Given the description of an element on the screen output the (x, y) to click on. 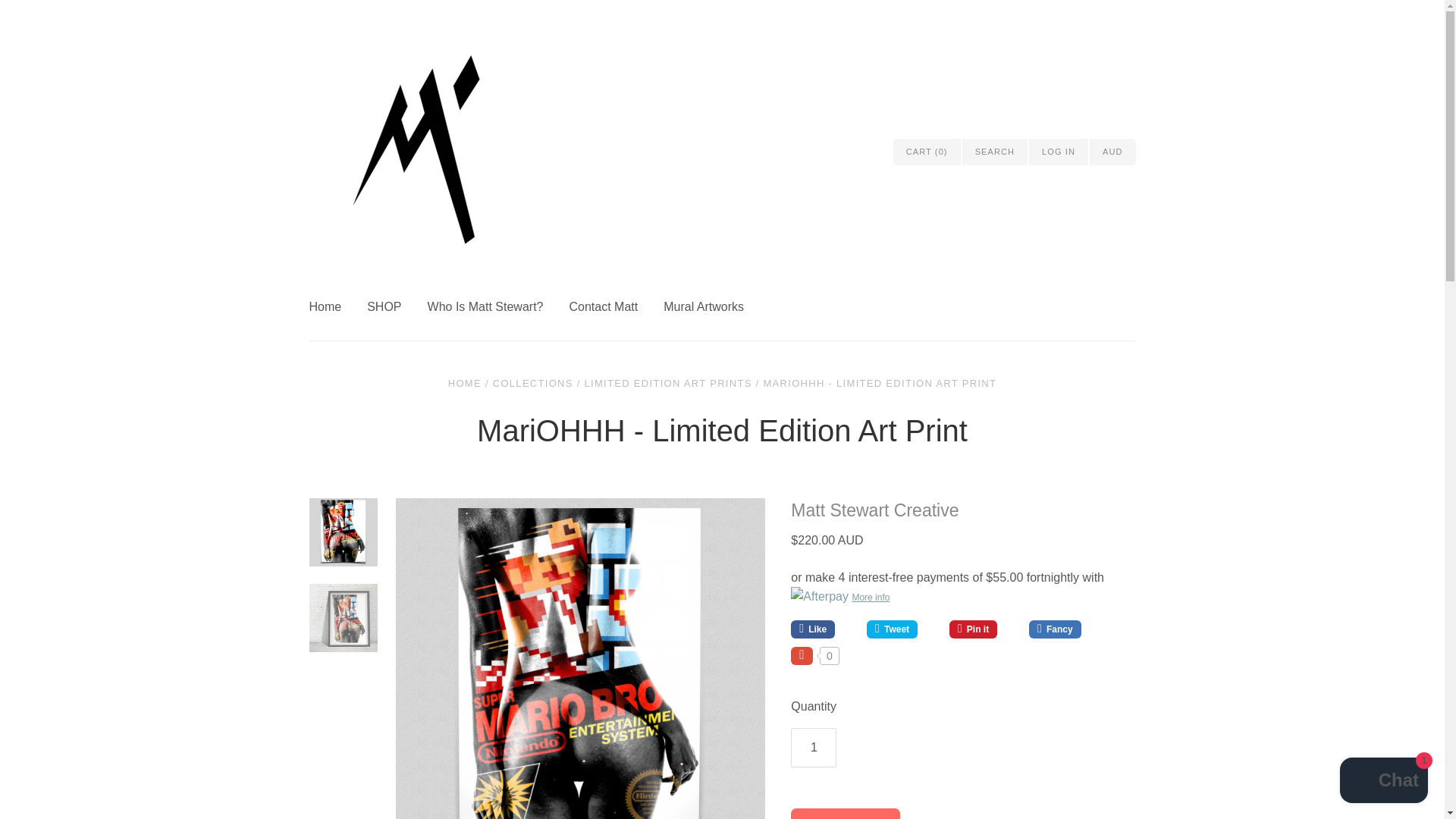
More info (962, 596)
Fancy (1056, 628)
Tweet (901, 628)
SHOP (396, 306)
Matt Stewart Creative (874, 509)
LIMITED EDITION ART PRINTS (668, 383)
LOG IN (1058, 151)
Contact Matt (616, 306)
0 (814, 655)
Shopify online store chat (1383, 781)
HOME (464, 383)
Pin it (983, 628)
1 (812, 747)
COLLECTIONS (533, 383)
Buy Now! (844, 813)
